Given the description of an element on the screen output the (x, y) to click on. 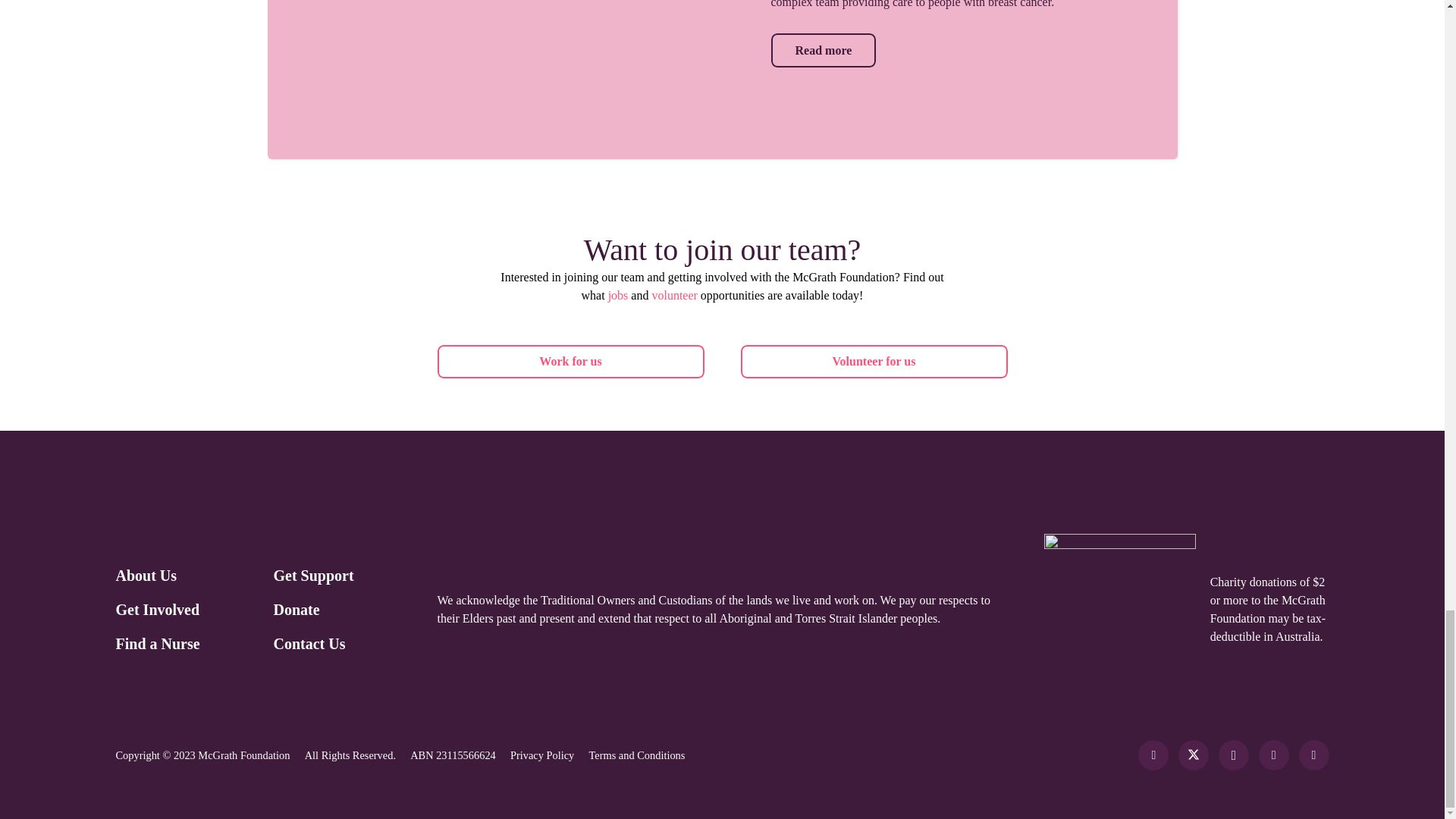
Facebook (1153, 755)
Instagram (1233, 755)
LinkedIn (1273, 755)
What We Do (823, 50)
YouTube (1312, 755)
Work For Us (569, 361)
Work For Us (873, 361)
Twitter (1192, 755)
